Given the description of an element on the screen output the (x, y) to click on. 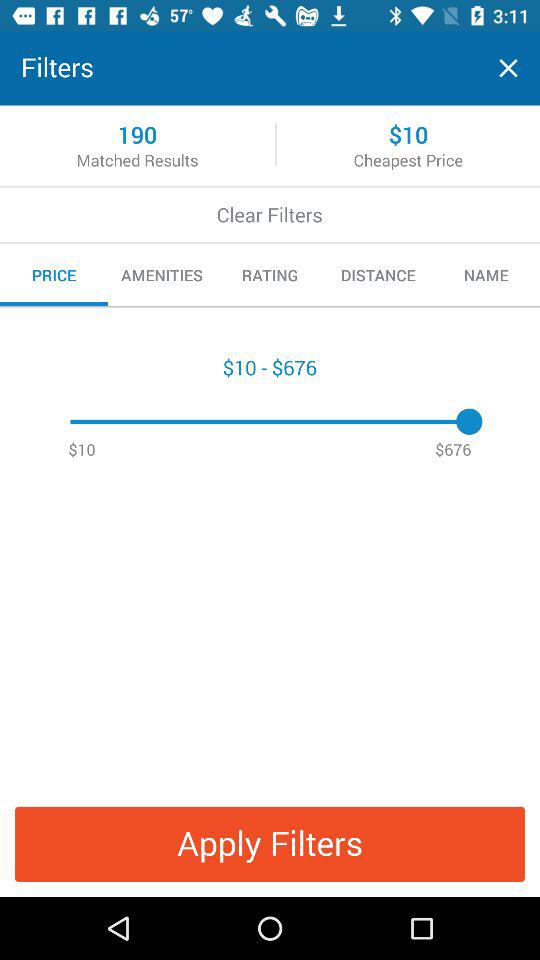
scroll to name item (486, 275)
